Given the description of an element on the screen output the (x, y) to click on. 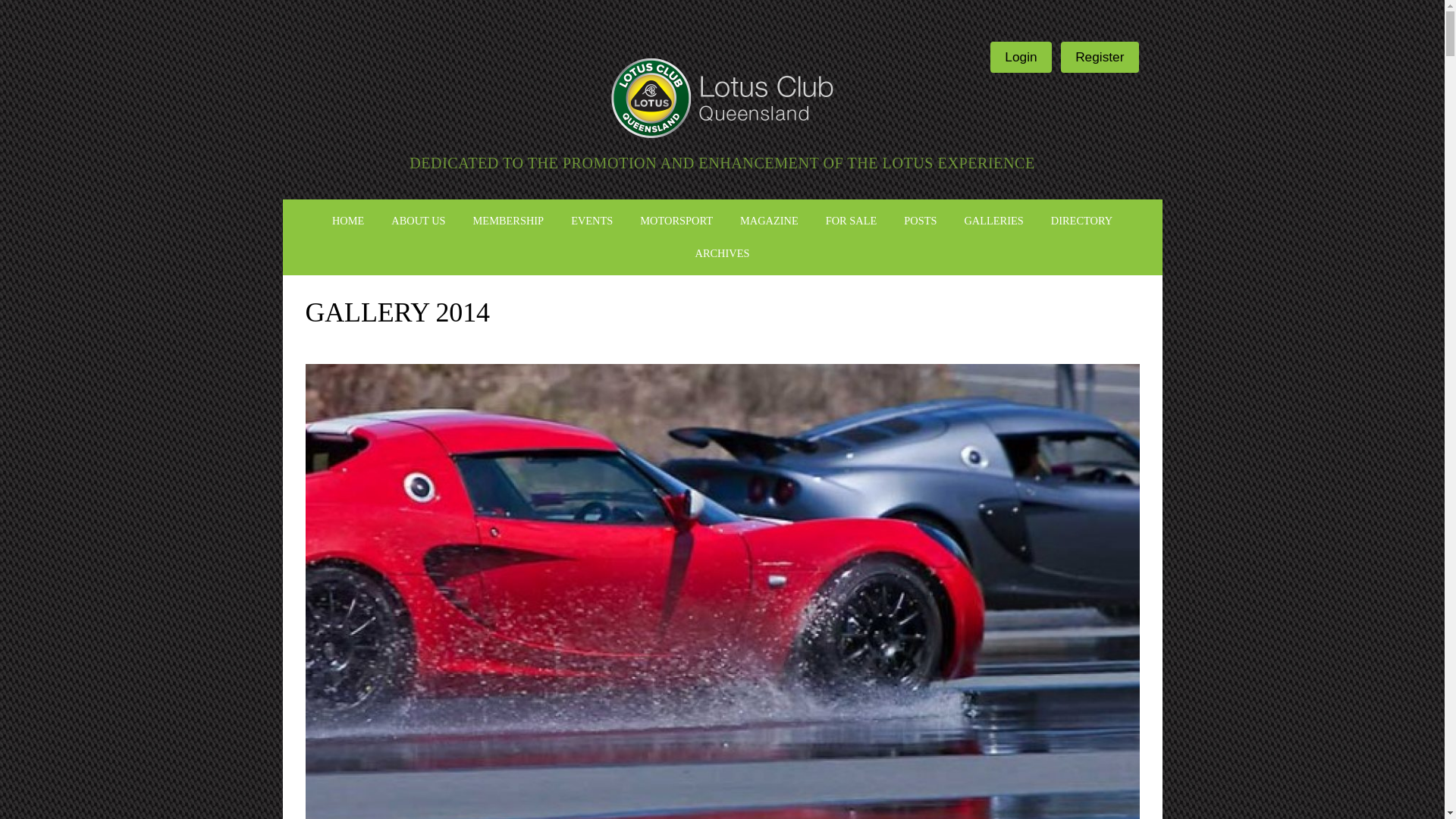
MOTORSPORT (676, 220)
GALLERIES (993, 220)
Lotus Club Queensland (721, 96)
Login (1020, 56)
Lotus Club Queensland (721, 96)
Register (1099, 56)
ABOUT US (417, 220)
MEMBERSHIP (508, 220)
HOME (347, 220)
POSTS (920, 220)
EVENTS (591, 220)
FOR SALE (851, 220)
ARCHIVES (721, 253)
MAGAZINE (769, 220)
DIRECTORY (1081, 220)
